Given the description of an element on the screen output the (x, y) to click on. 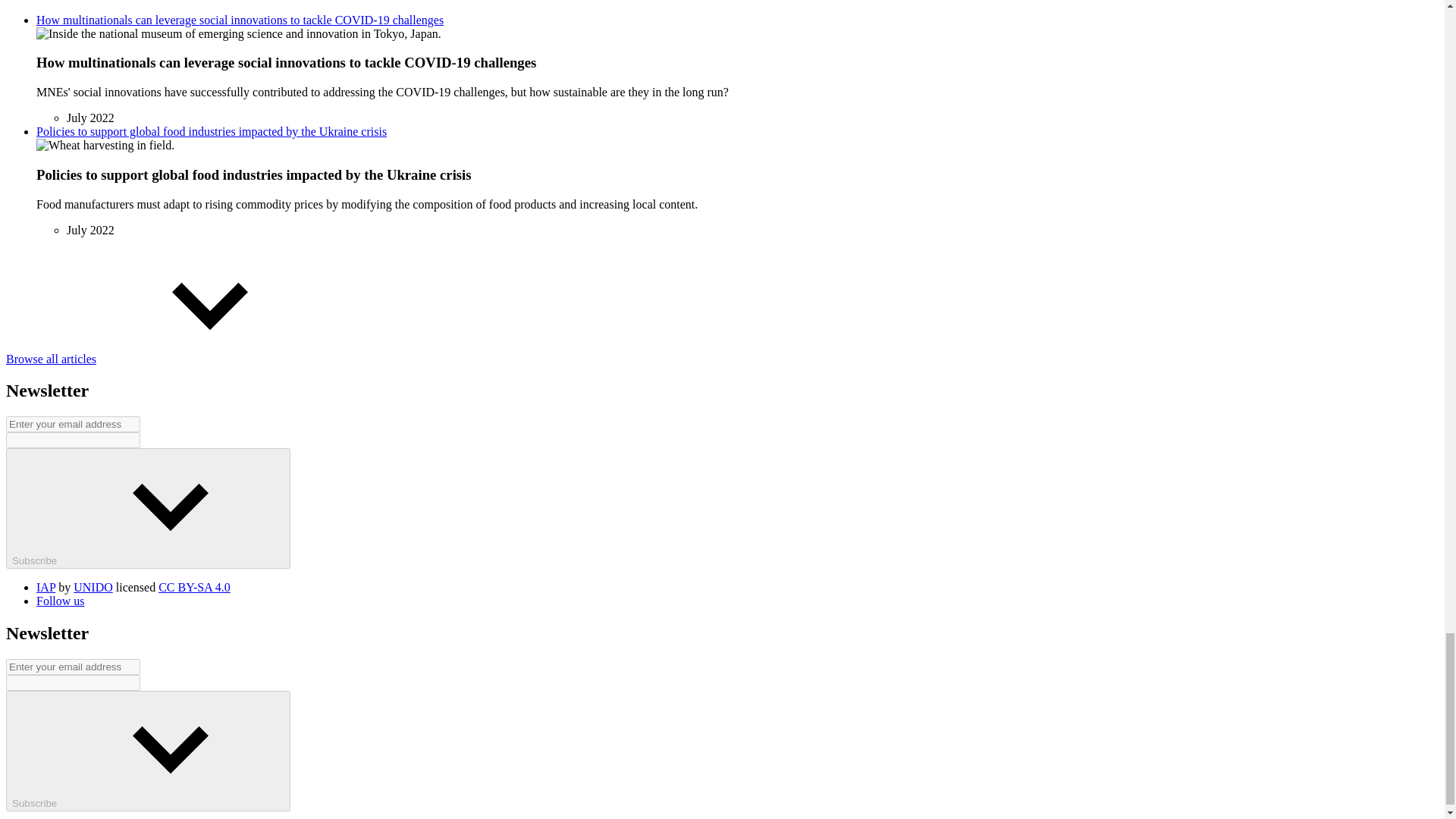
Browse all articles (164, 358)
UNIDO (93, 586)
Subscribe (147, 507)
Follow us (60, 600)
IAP (45, 586)
Subscribe (147, 751)
CC BY-SA 4.0 (194, 586)
